Given the description of an element on the screen output the (x, y) to click on. 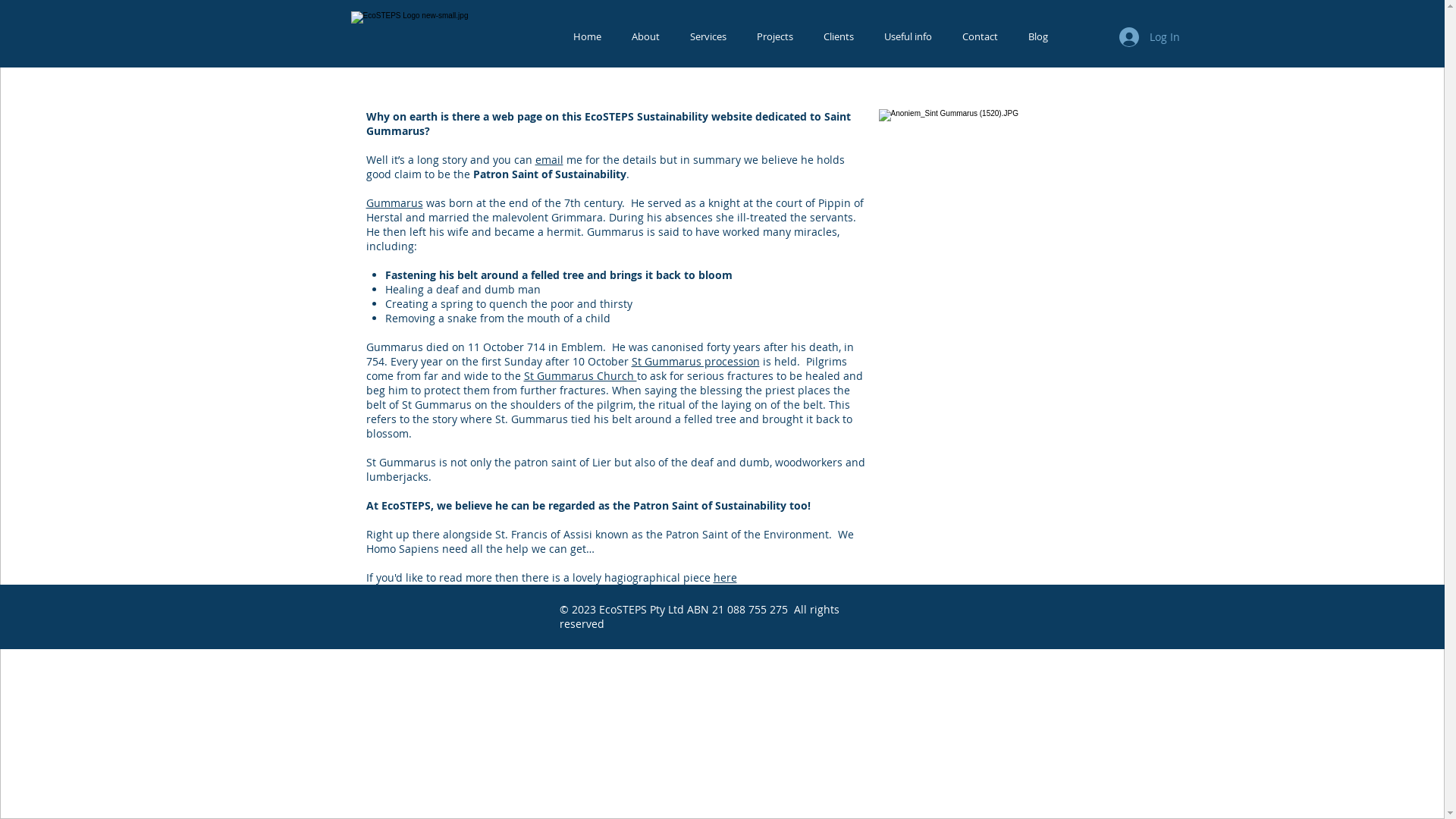
Useful info Element type: text (908, 36)
Gummarus Element type: text (393, 202)
St Gummarus Church  Element type: text (579, 375)
Contact Element type: text (979, 36)
Home Element type: text (587, 36)
Blog Element type: text (1038, 36)
here Element type: text (724, 577)
St Gummarus procession Element type: text (694, 361)
Log In Element type: text (1149, 36)
Projects Element type: text (774, 36)
email Element type: text (549, 159)
